Given the description of an element on the screen output the (x, y) to click on. 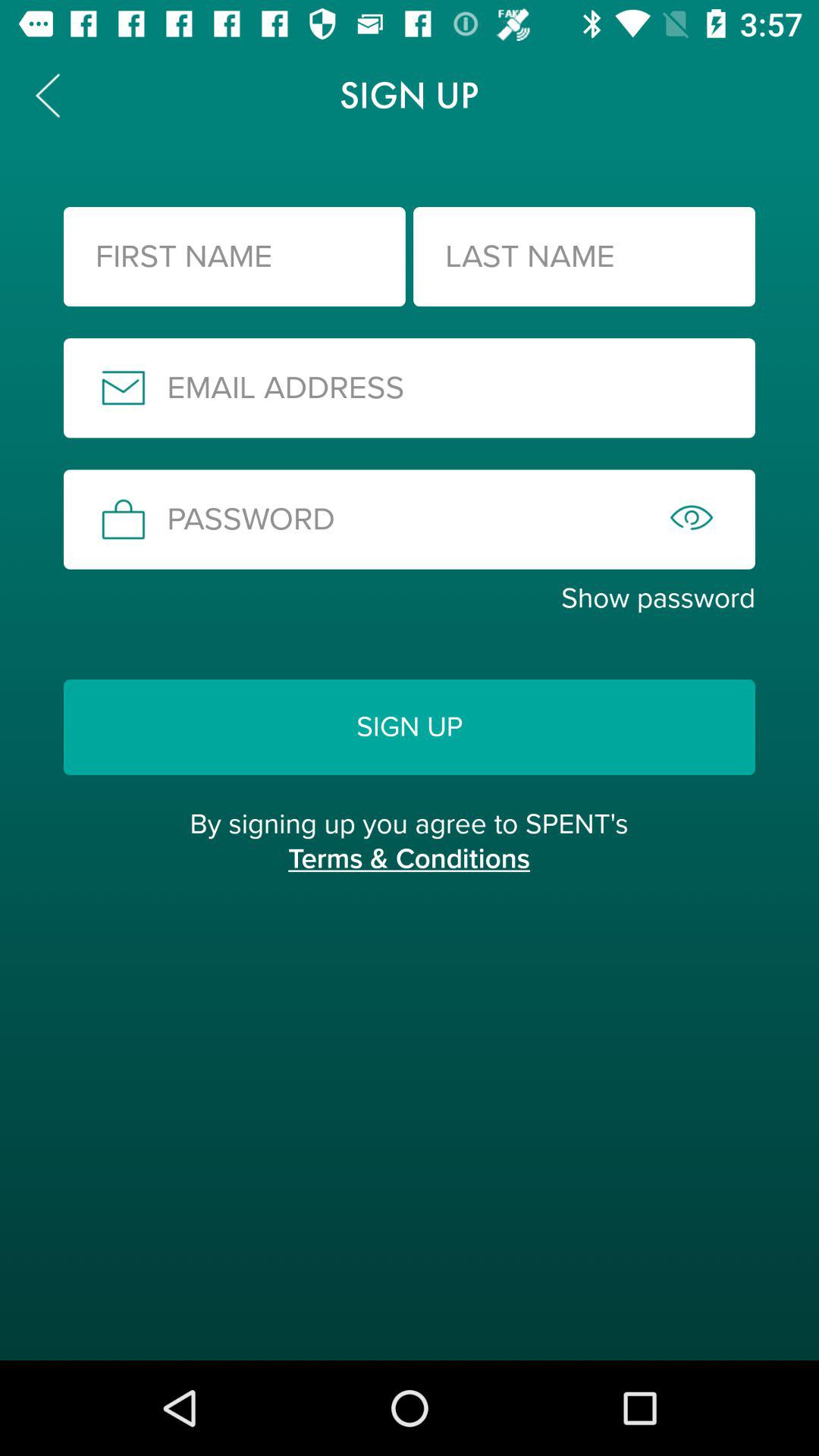
scroll until the terms & conditions icon (408, 874)
